Given the description of an element on the screen output the (x, y) to click on. 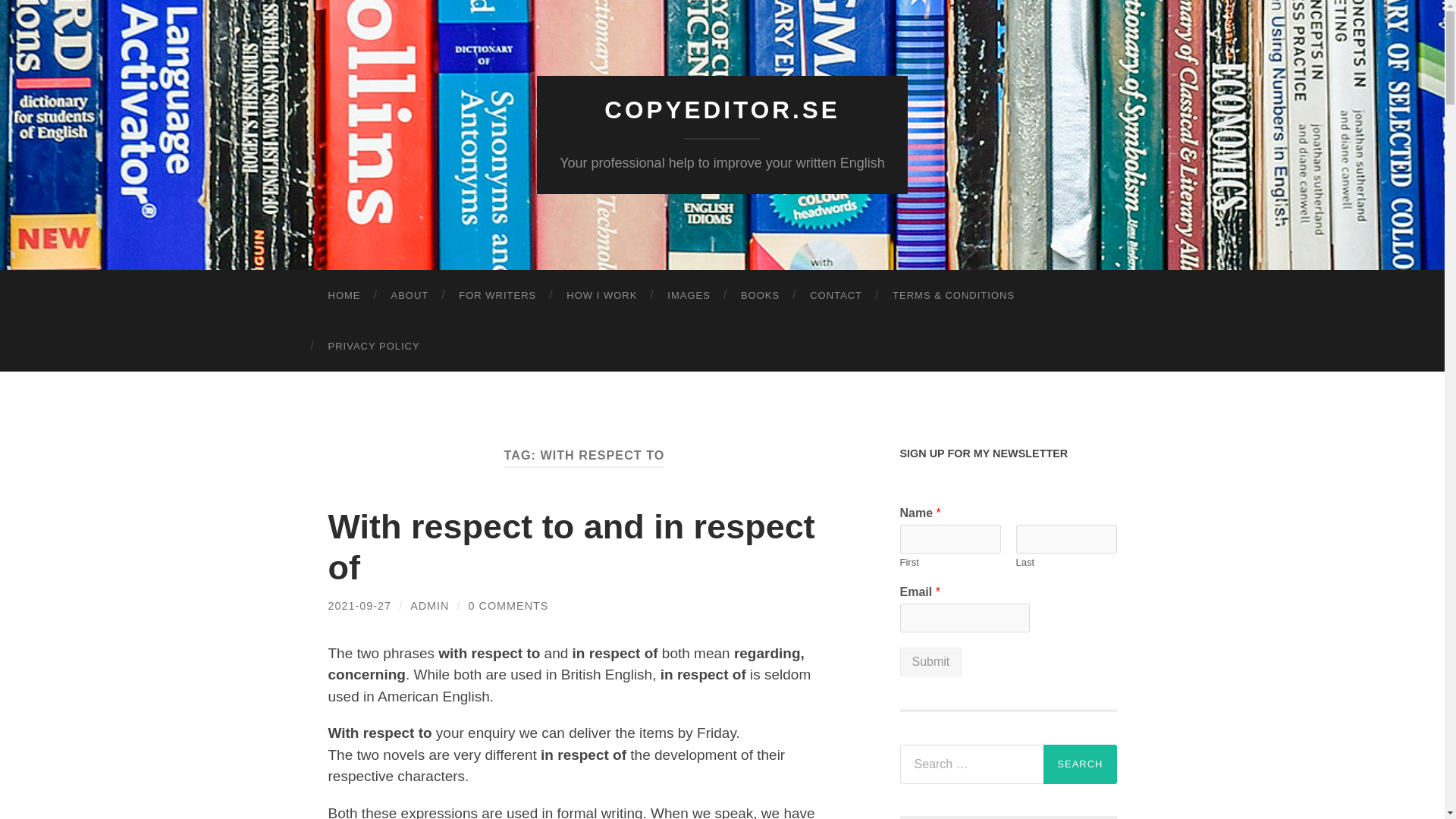
Search (1079, 763)
PRIVACY POLICY (373, 346)
FOR WRITERS (497, 295)
IMAGES (688, 295)
0 COMMENTS (508, 605)
CONTACT (835, 295)
Search (1079, 763)
COPYEDITOR.SE (722, 109)
HOW I WORK (601, 295)
With respect to and in respect of (570, 546)
Submit (929, 661)
ABOUT (409, 295)
Posts by admin (429, 605)
ADMIN (429, 605)
Search (1079, 763)
